Given the description of an element on the screen output the (x, y) to click on. 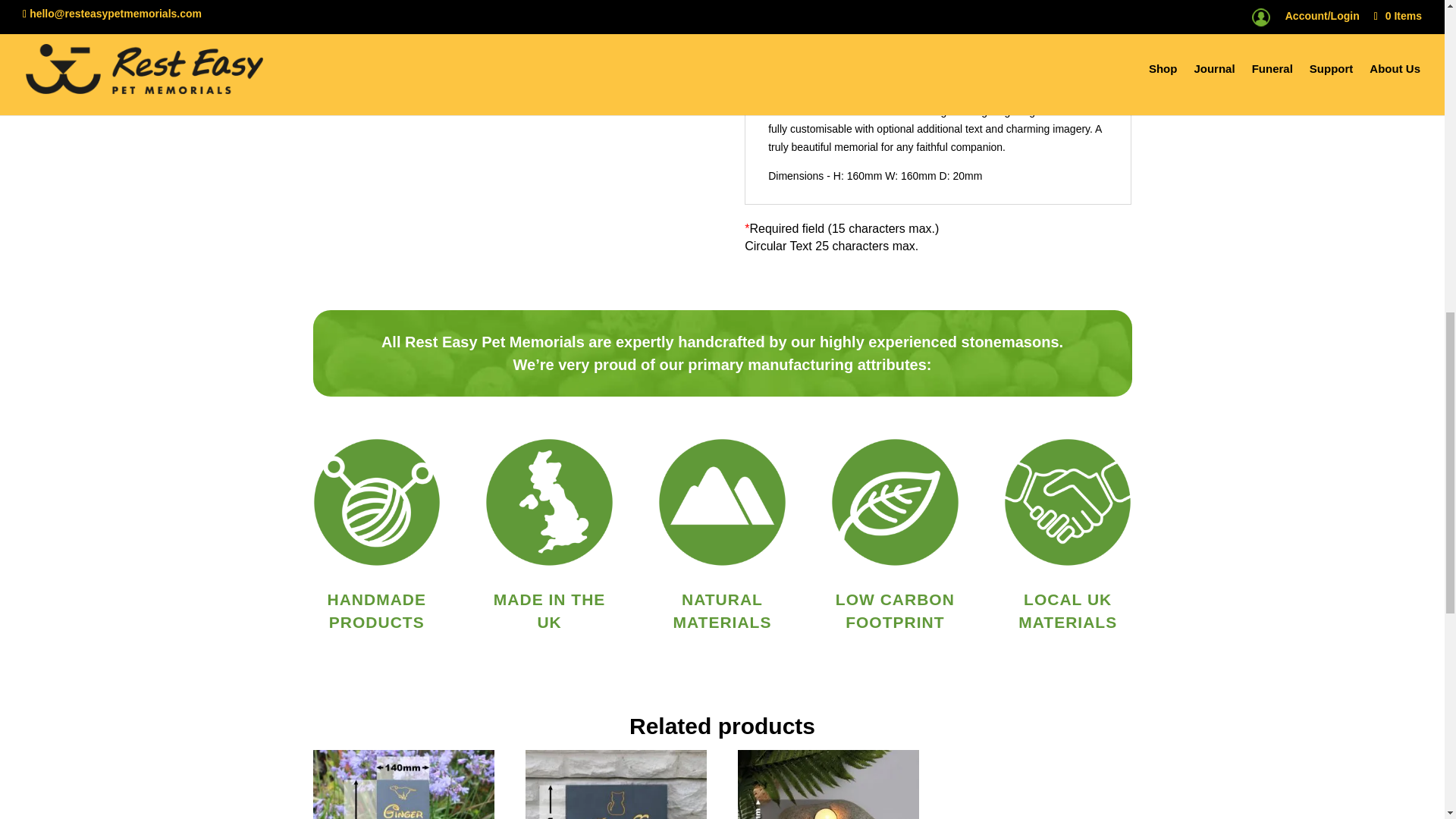
Carbon footprint icon (894, 501)
Natural materials icon (722, 501)
Description (796, 53)
Handmade icon (376, 501)
Made in the UK icon (548, 501)
Additional information (929, 53)
Locally sourced materials icon (1067, 501)
